Given the description of an element on the screen output the (x, y) to click on. 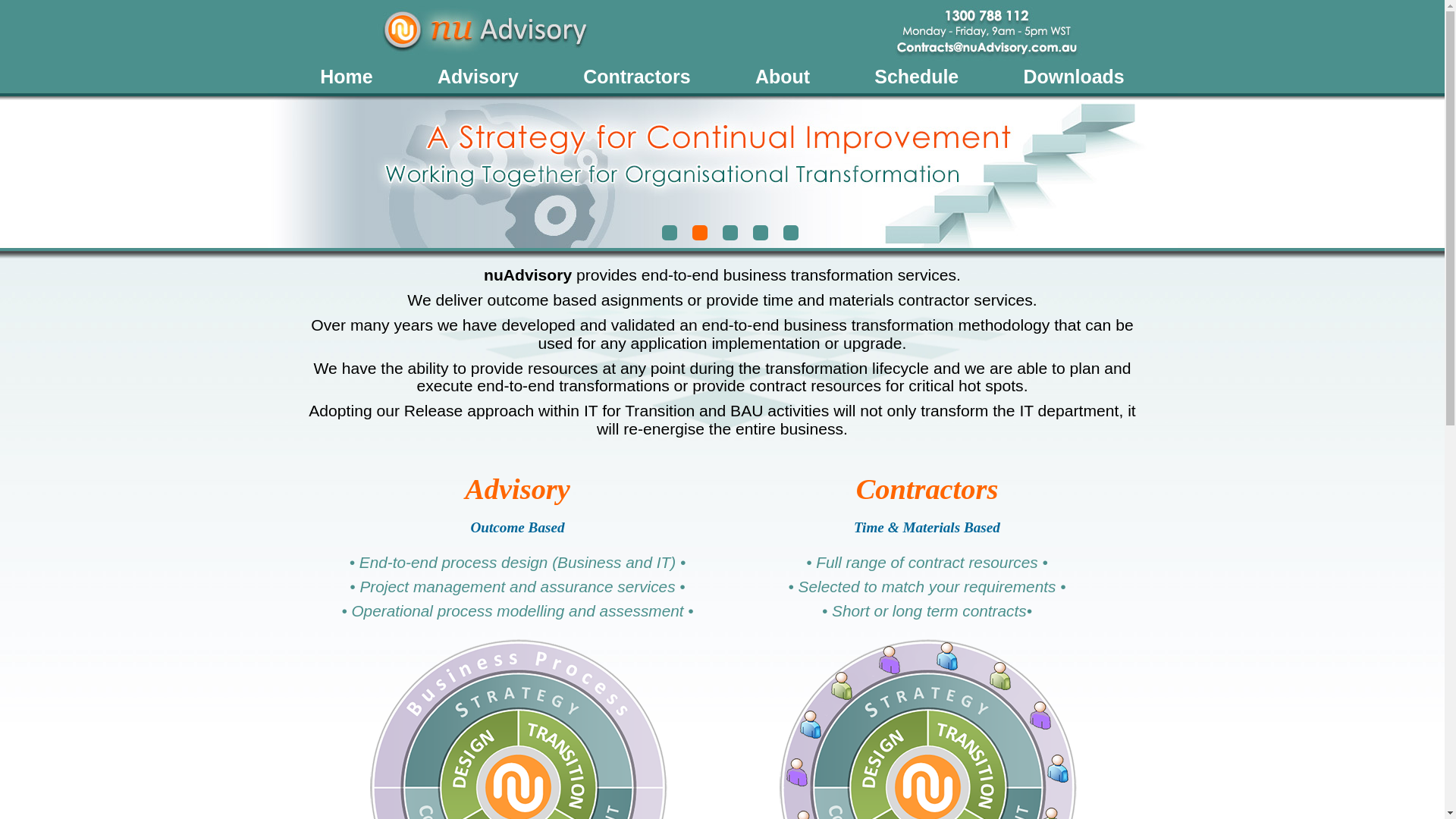
About Element type: text (782, 76)
Advisory Element type: text (517, 489)
Contractors Element type: text (927, 489)
3 Element type: text (729, 232)
Schedule Element type: text (916, 76)
1 Element type: text (668, 232)
Contractors Element type: text (636, 76)
Downloads Element type: text (1073, 76)
4 Element type: text (759, 232)
5 Element type: text (789, 232)
2 Element type: text (698, 232)
Advisory Element type: text (477, 76)
Home Element type: text (346, 76)
